Given the description of an element on the screen output the (x, y) to click on. 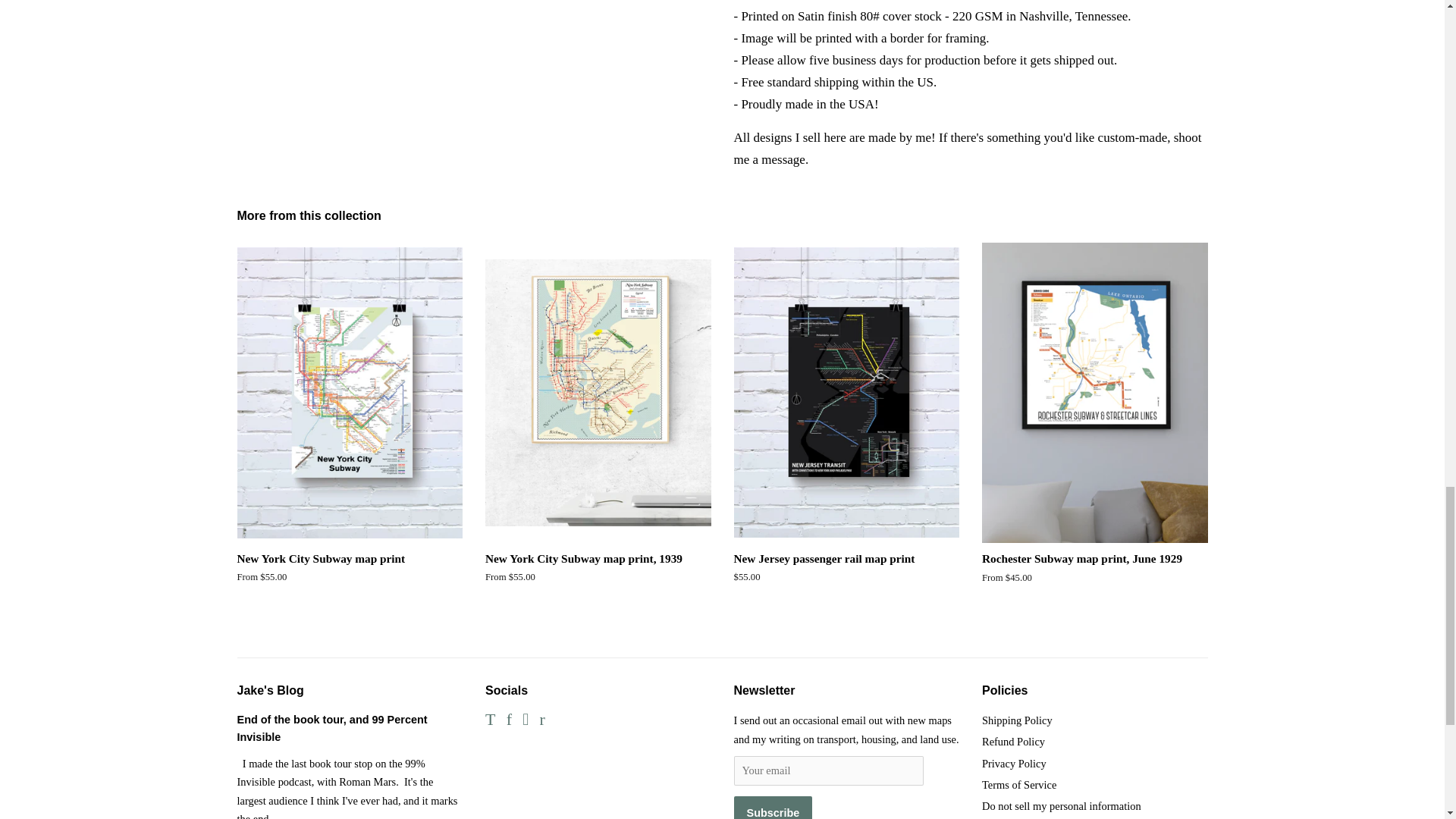
Subscribe (772, 807)
